Given the description of an element on the screen output the (x, y) to click on. 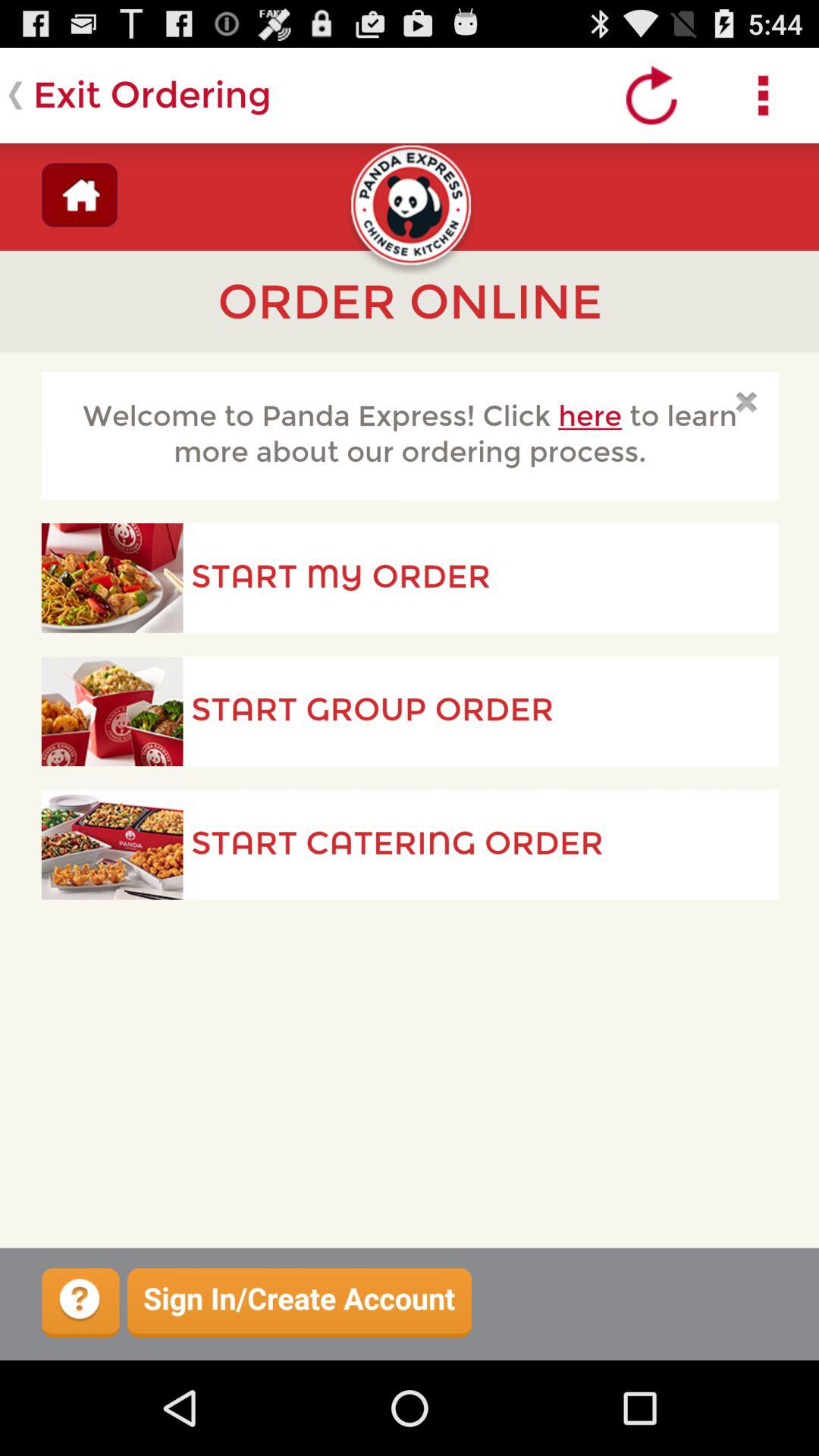
refresh page (651, 95)
